Given the description of an element on the screen output the (x, y) to click on. 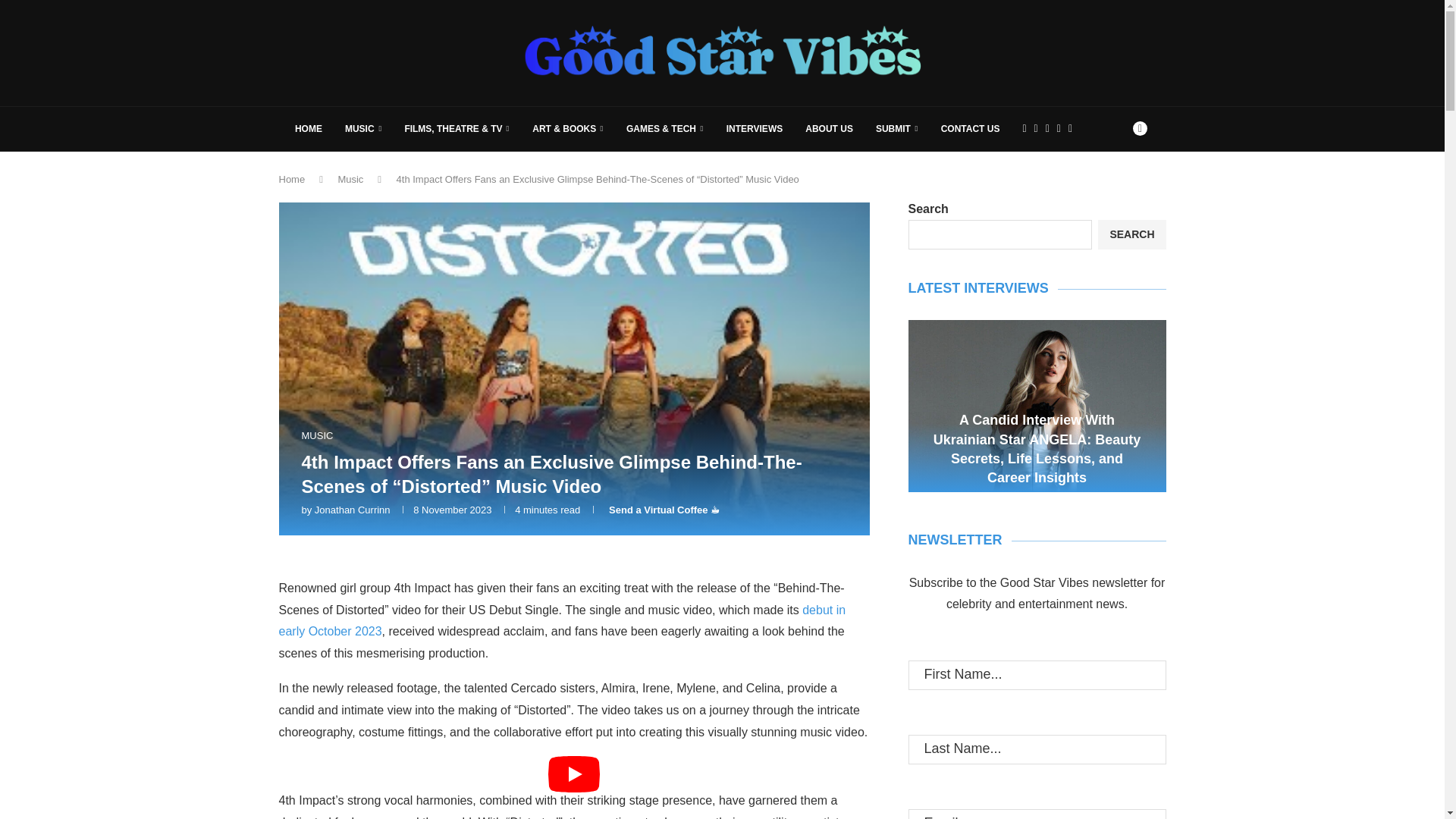
debut in early October 2023 (562, 620)
MUSIC (317, 435)
ABOUT US (829, 128)
INTERVIEWS (754, 128)
CONTACT US (970, 128)
Home (292, 179)
Music (349, 179)
SUBMIT (897, 128)
